Given the description of an element on the screen output the (x, y) to click on. 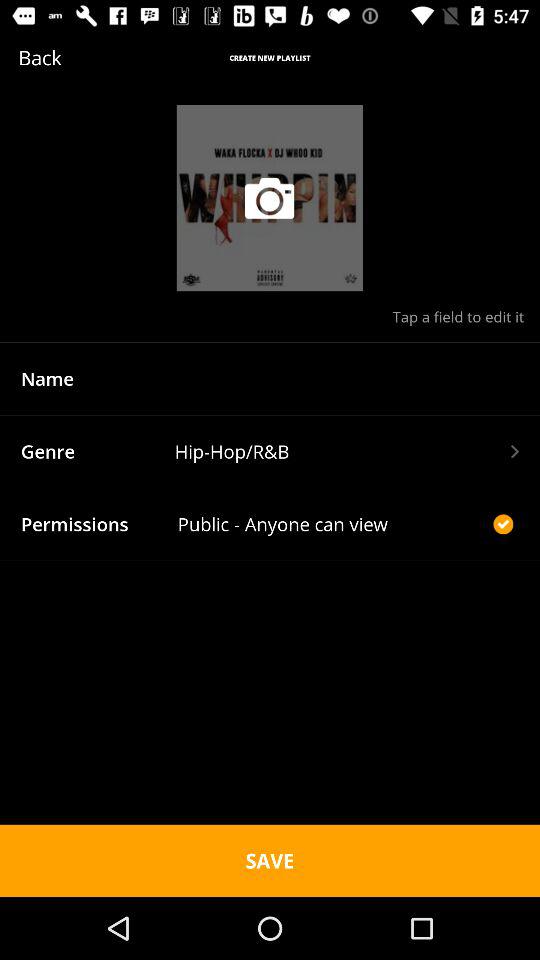
choose the public anyone can (332, 524)
